Given the description of an element on the screen output the (x, y) to click on. 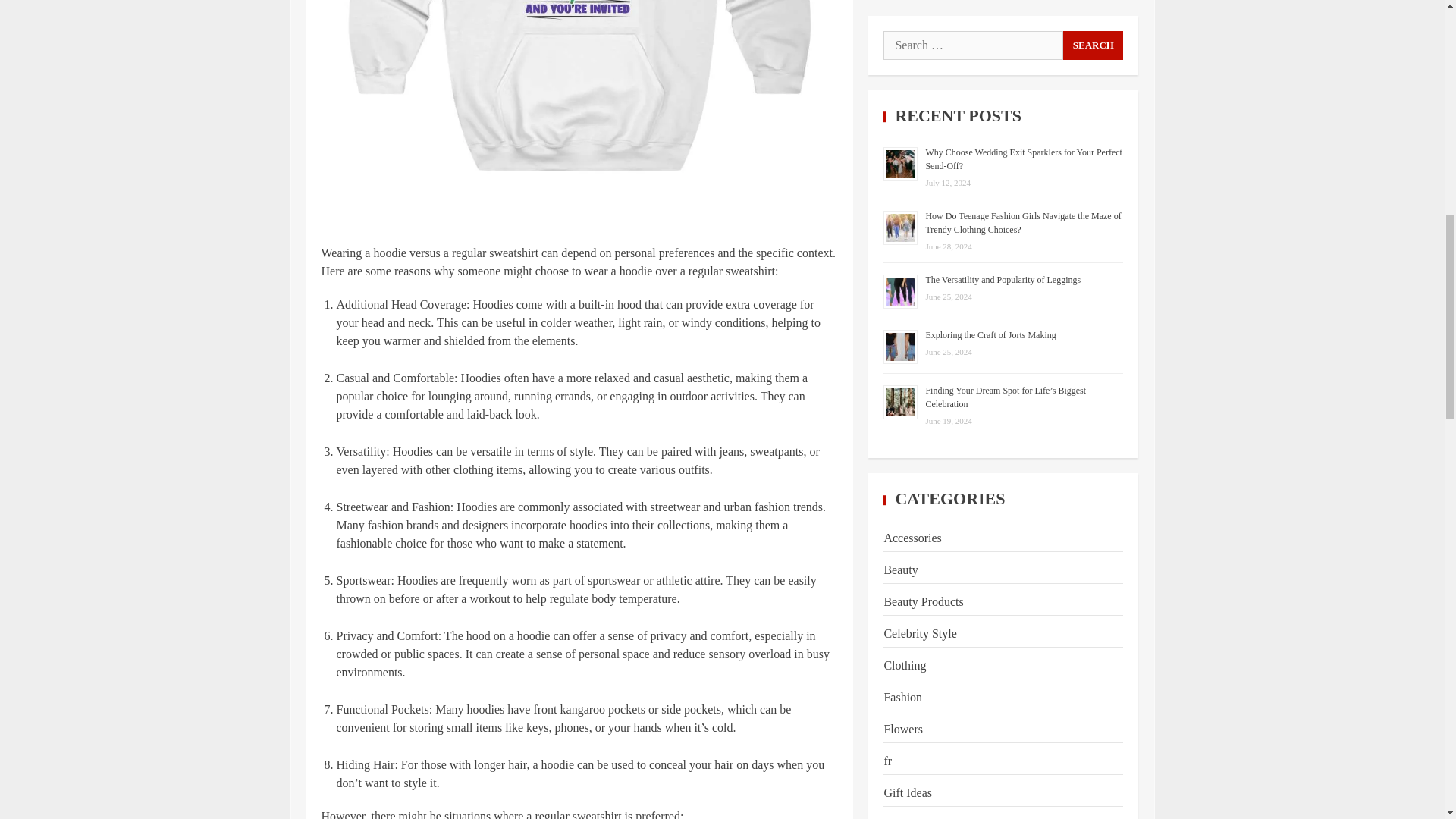
funny hoodies (579, 115)
